Given the description of an element on the screen output the (x, y) to click on. 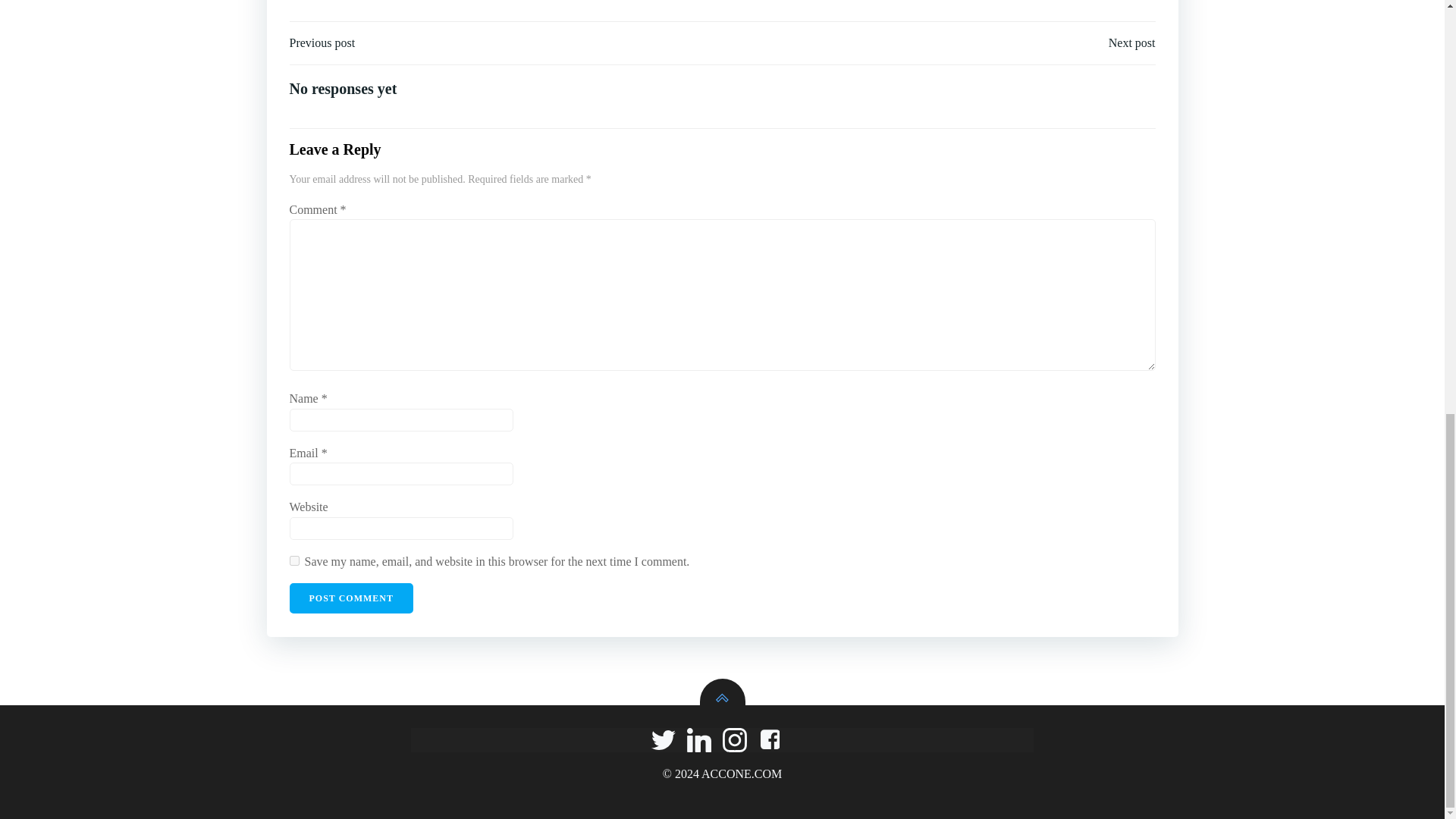
Post Comment (351, 598)
Previous post (322, 43)
Post Comment (351, 598)
yes (294, 560)
Next post (1132, 43)
